Given the description of an element on the screen output the (x, y) to click on. 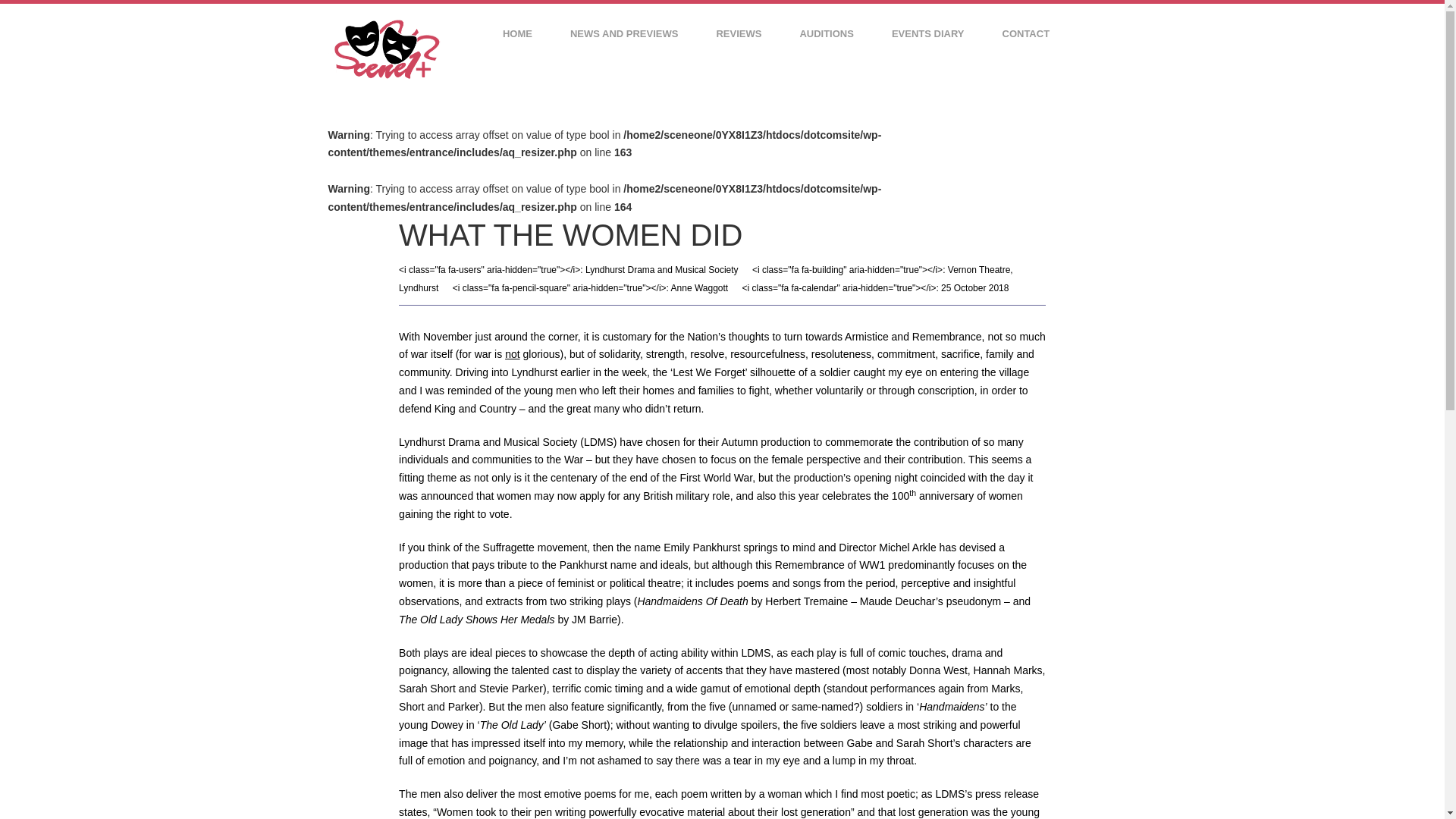
CONTACT (1026, 33)
AUDITIONS (826, 33)
EVENTS DIARY (927, 33)
REVIEWS (738, 33)
NEWS AND PREVIEWS (624, 33)
HOME (517, 33)
